Given the description of an element on the screen output the (x, y) to click on. 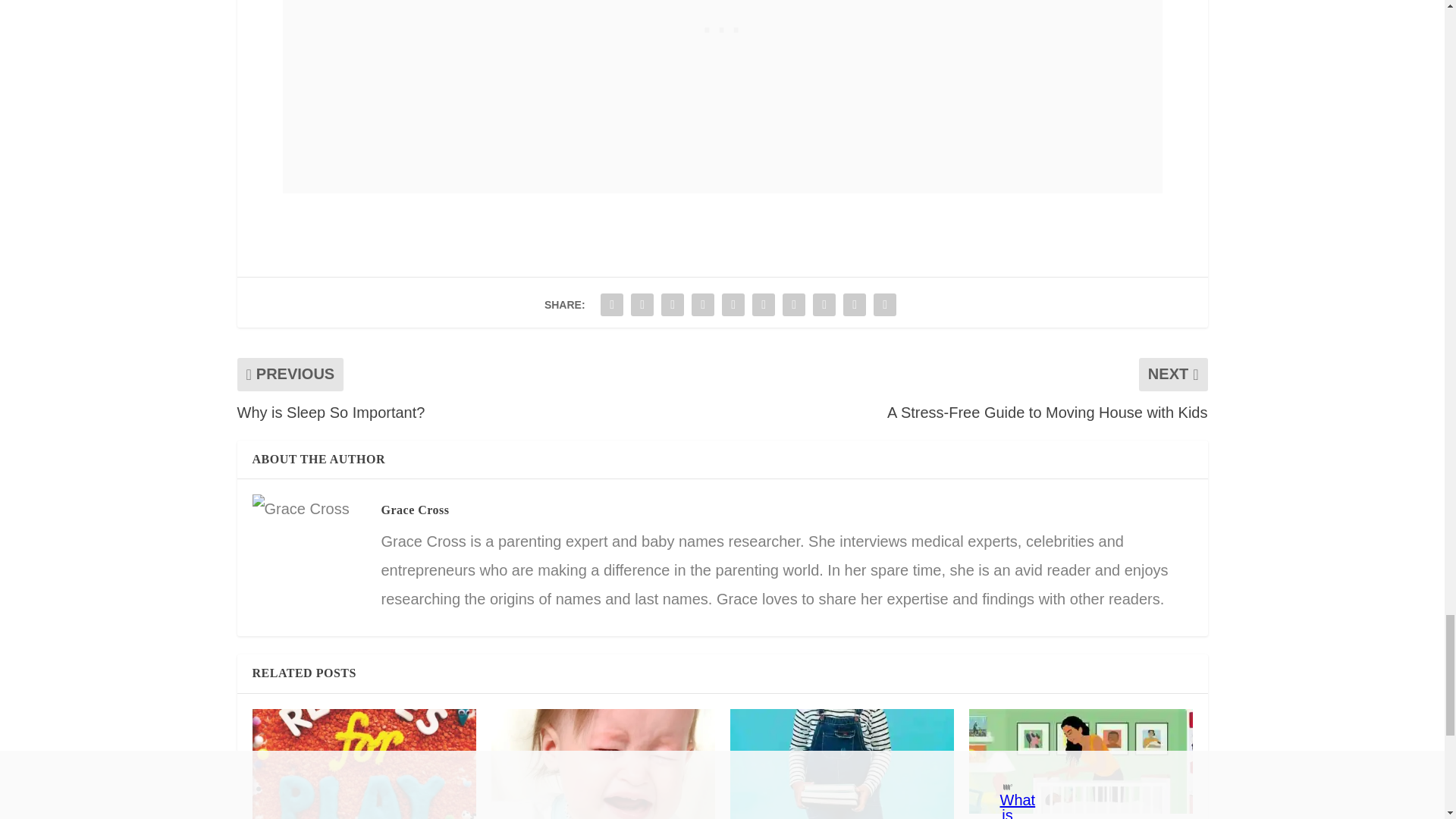
View all posts by Grace Cross (414, 509)
